Given the description of an element on the screen output the (x, y) to click on. 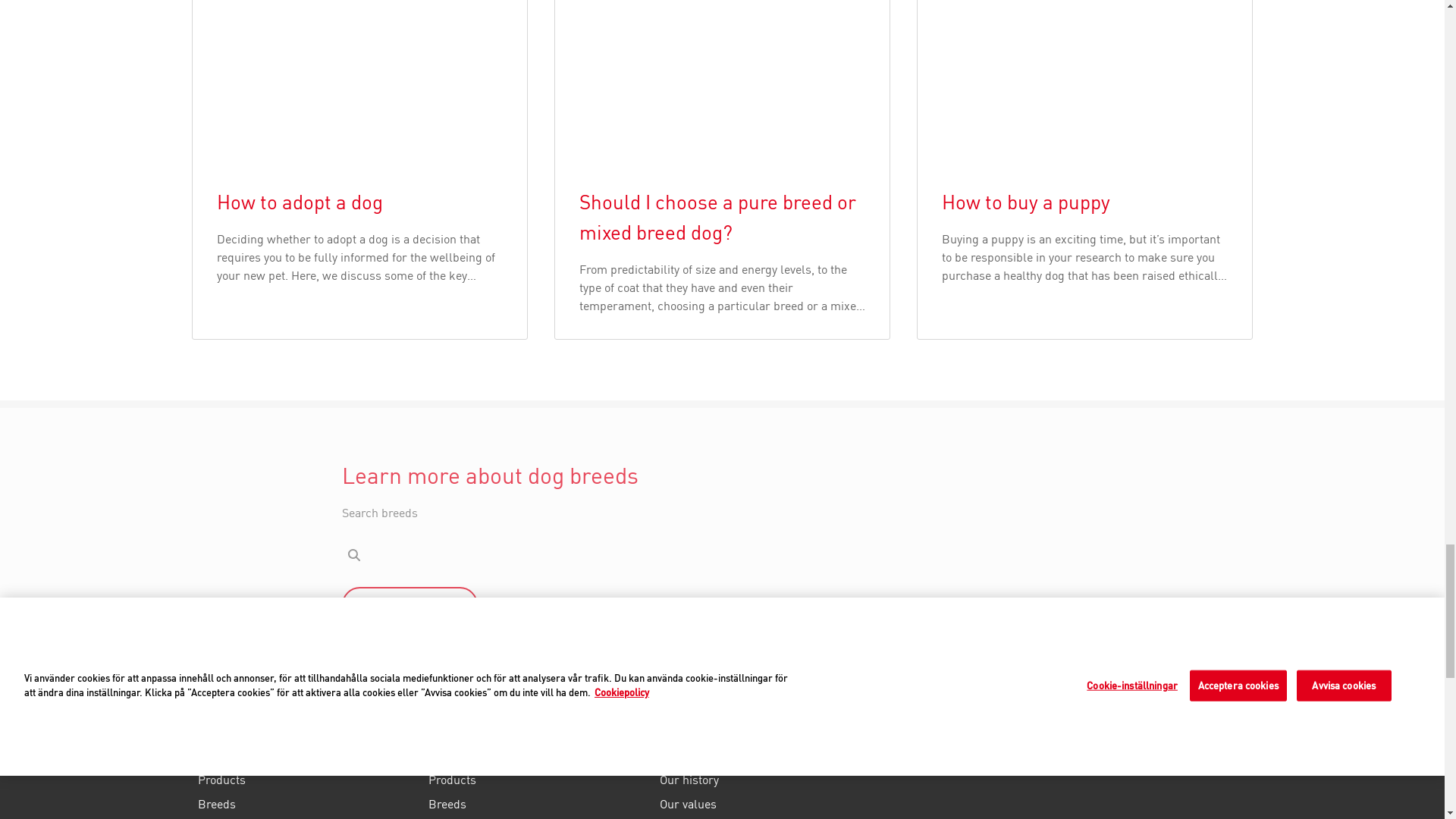
Cats (306, 751)
Our history (769, 779)
Thinking of getting a dog (537, 817)
Sustainability (769, 817)
Thinking of getting a dog (537, 817)
Thinking of getting a cat (306, 817)
Products (537, 779)
Thinking of getting a cat (306, 817)
Language (231, 696)
Products (537, 779)
Our history (769, 779)
Breeds (537, 803)
CATS (306, 751)
Breeds (306, 803)
